Given the description of an element on the screen output the (x, y) to click on. 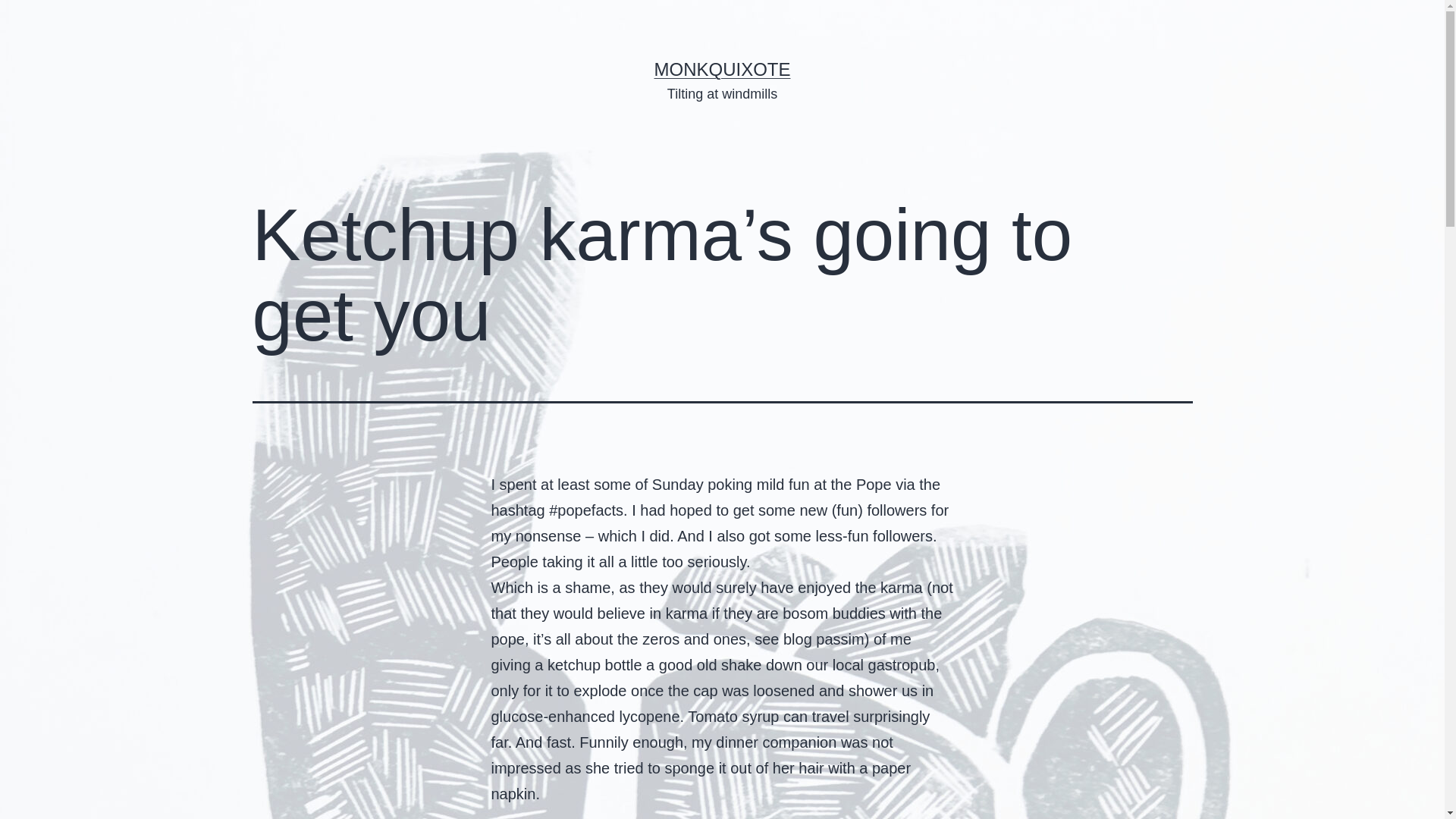
MONKQUIXOTE (721, 68)
